Given the description of an element on the screen output the (x, y) to click on. 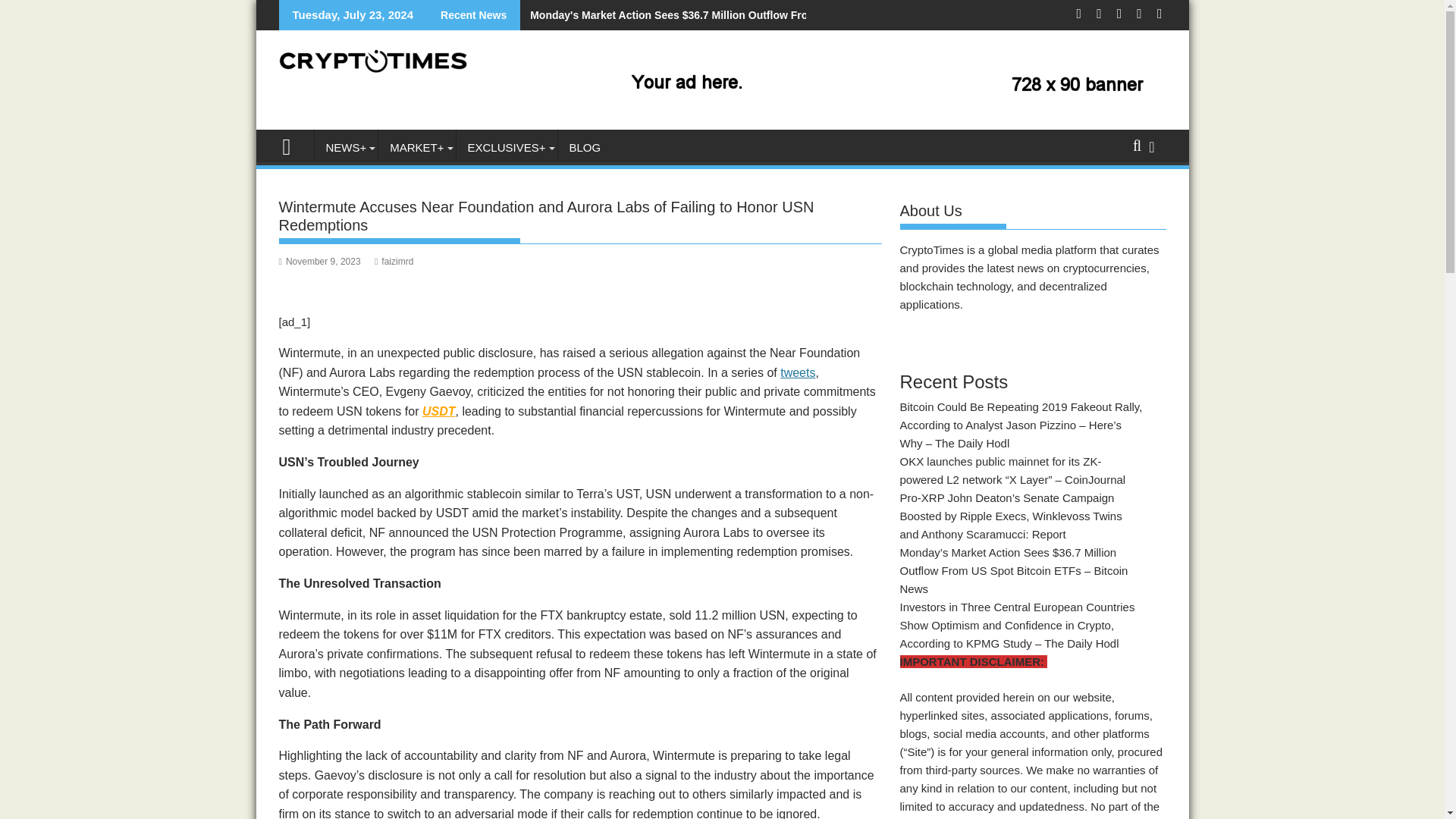
BLOG (584, 147)
